Given the description of an element on the screen output the (x, y) to click on. 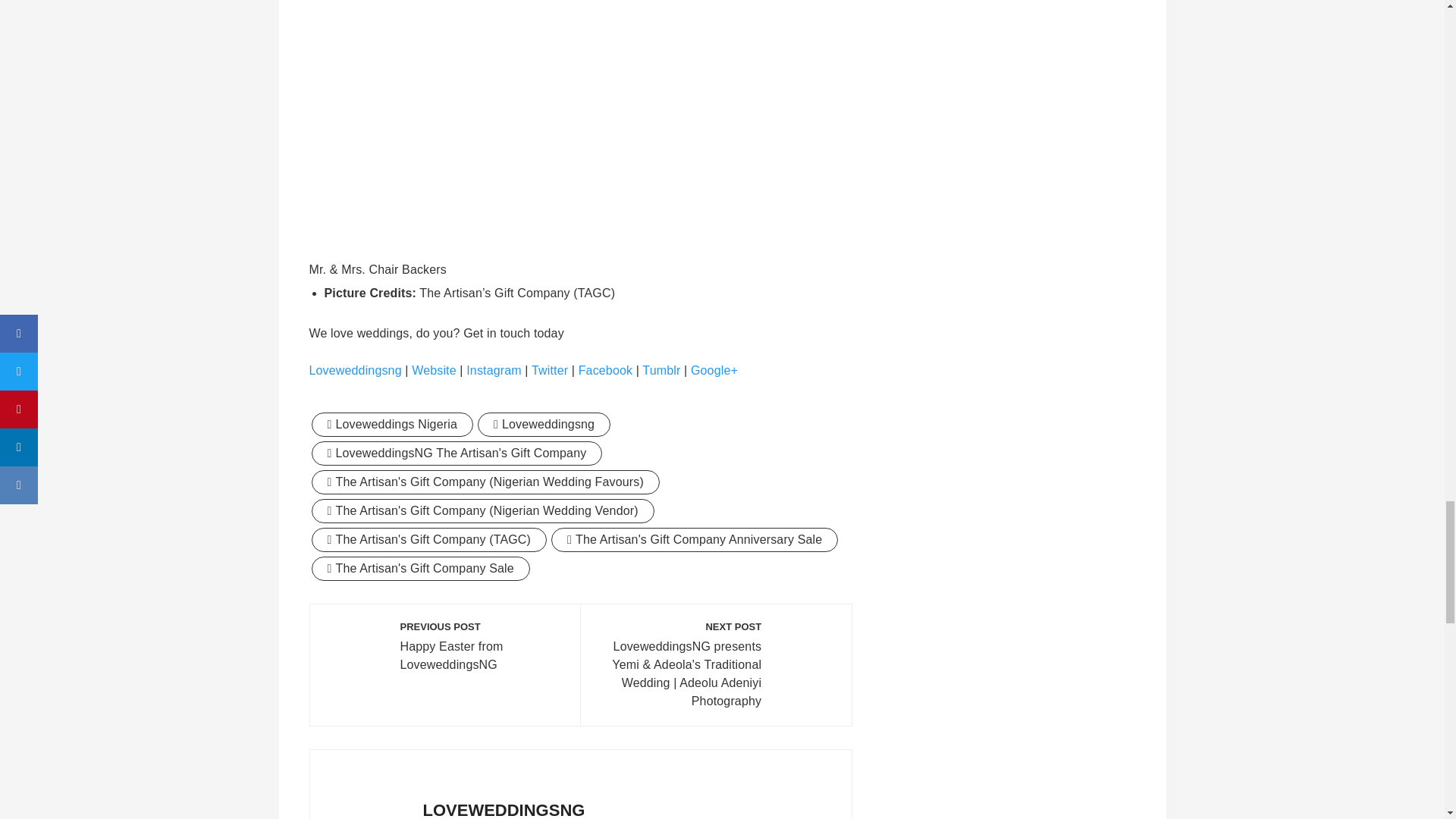
Facebook  (607, 369)
Instagram (493, 369)
Loveweddingsng (354, 369)
Website (434, 369)
Tumblr  (663, 369)
Twitter (549, 369)
